Given the description of an element on the screen output the (x, y) to click on. 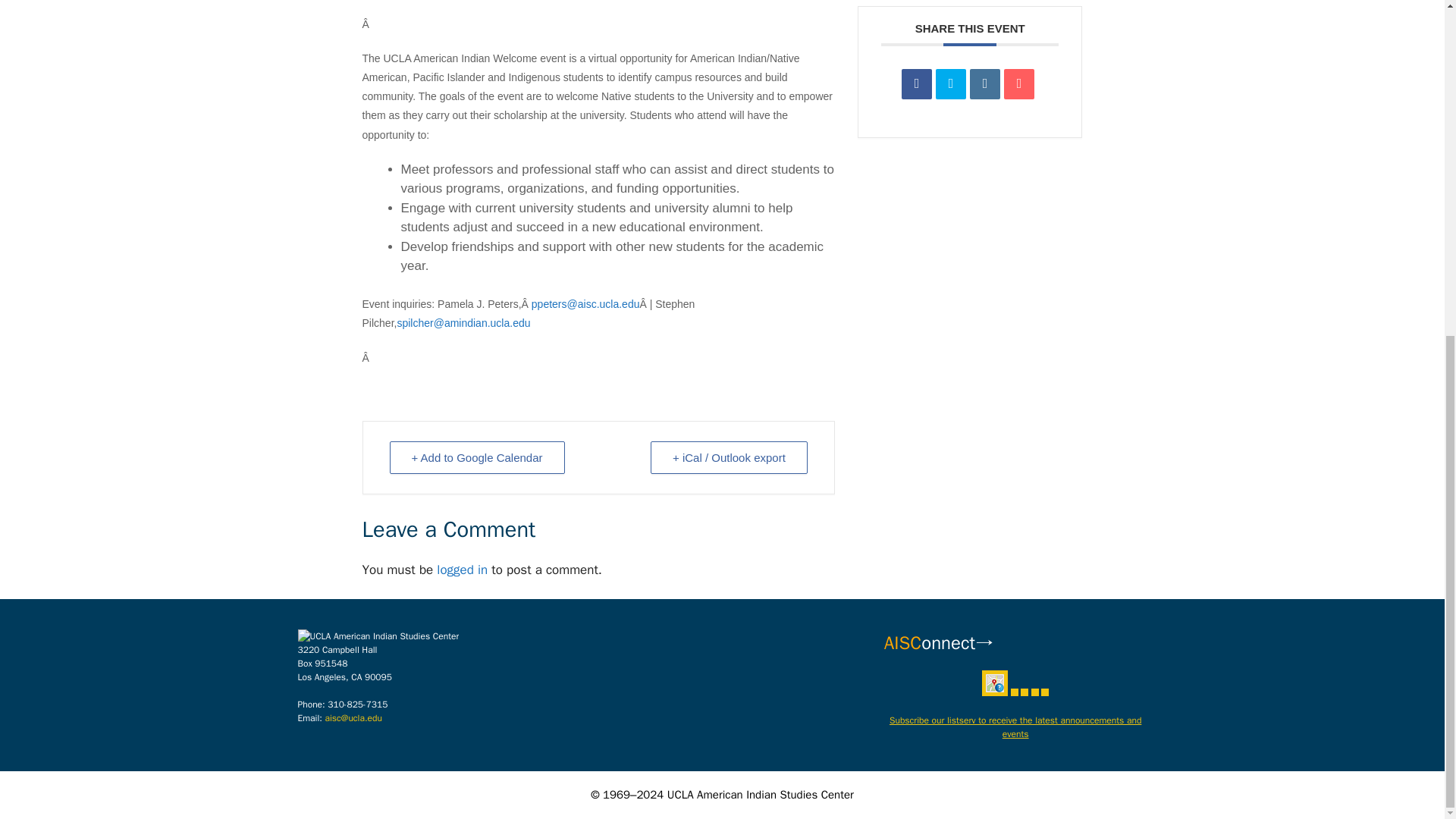
Linkedin (984, 83)
Visit the Center (994, 683)
Share on Facebook (916, 83)
Follow Us on Twitter (1023, 692)
View our channel (1034, 692)
Tweet (951, 83)
Email (1018, 83)
Like us on Facebook (1013, 692)
